Given the description of an element on the screen output the (x, y) to click on. 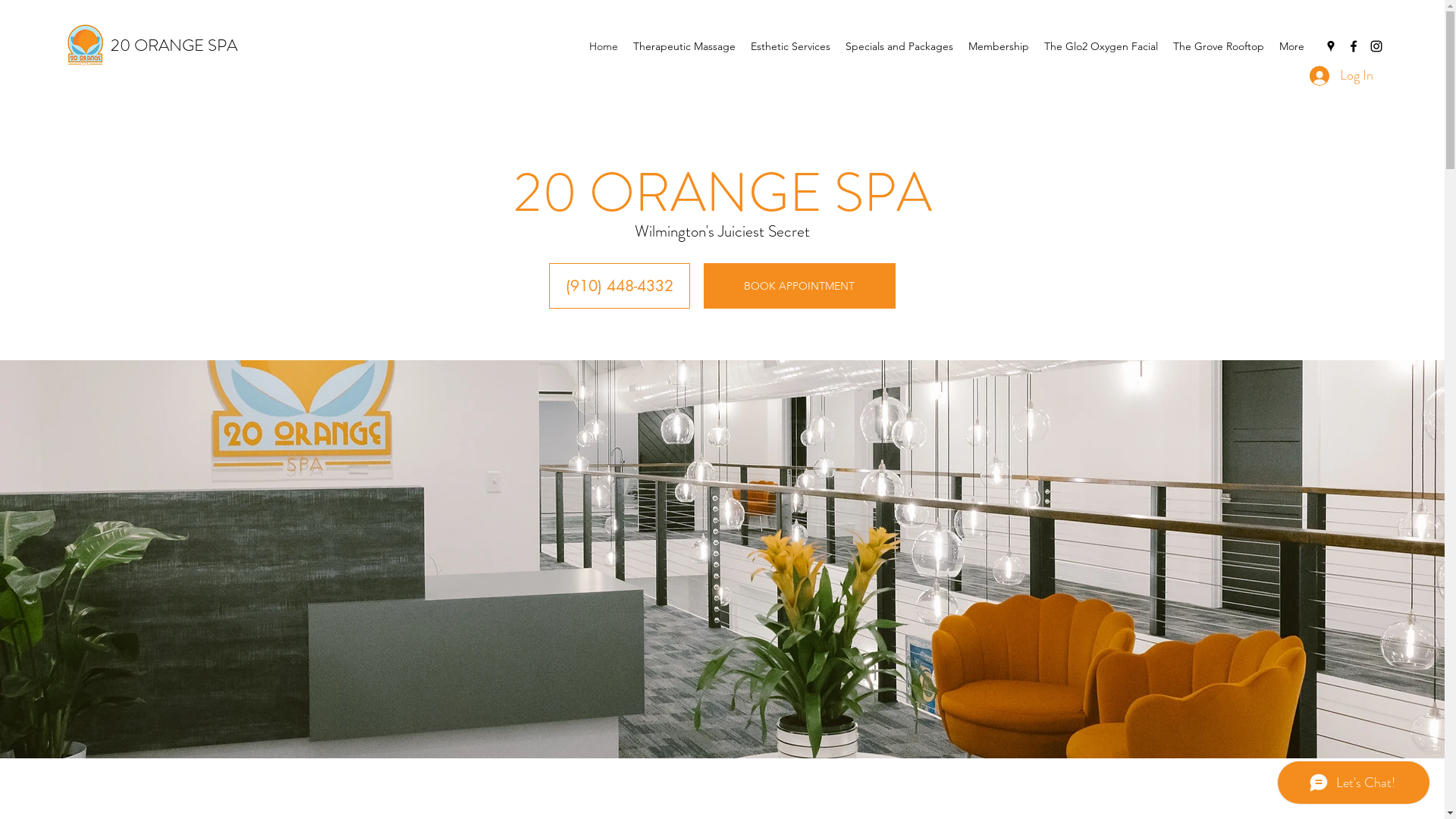
Esthetic Services Element type: text (790, 46)
(910) 448-4332 Element type: text (619, 285)
Specials and Packages Element type: text (898, 46)
Therapeutic Massage Element type: text (684, 46)
The Grove Rooftop Element type: text (1218, 46)
The Glo2 Oxygen Facial Element type: text (1100, 46)
20 ORANGE SPA Element type: text (173, 44)
Log In Element type: text (1341, 75)
Home Element type: text (603, 46)
Embedded Content Element type: hover (1196, 95)
BOOK APPOINTMENT Element type: text (799, 285)
Membership Element type: text (998, 46)
